Given the description of an element on the screen output the (x, y) to click on. 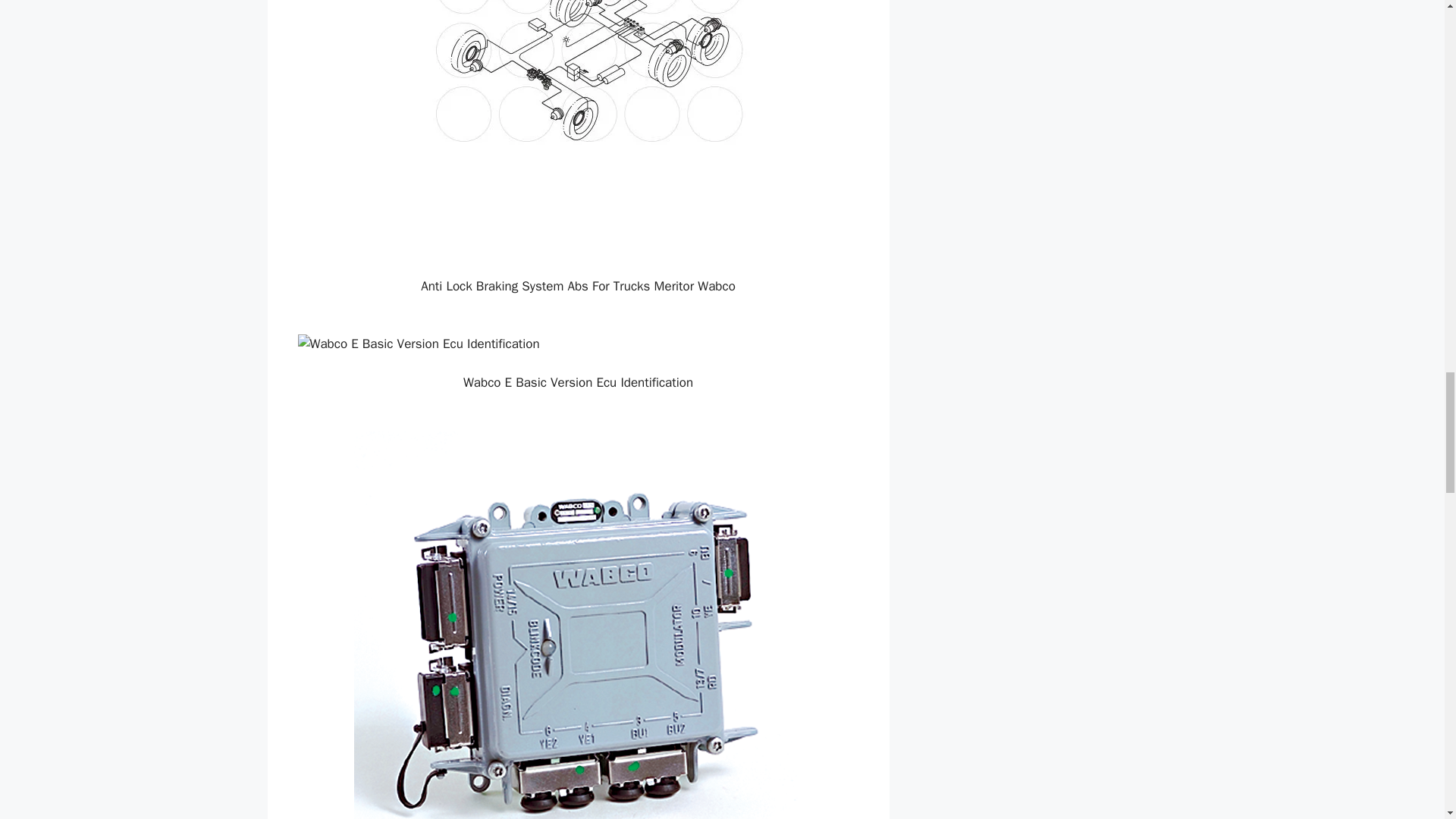
Wabco E Basic Version Ecu Identification (578, 343)
Anti Lock Braking System Abs For Trucks Meritor Wabco (577, 128)
